Given the description of an element on the screen output the (x, y) to click on. 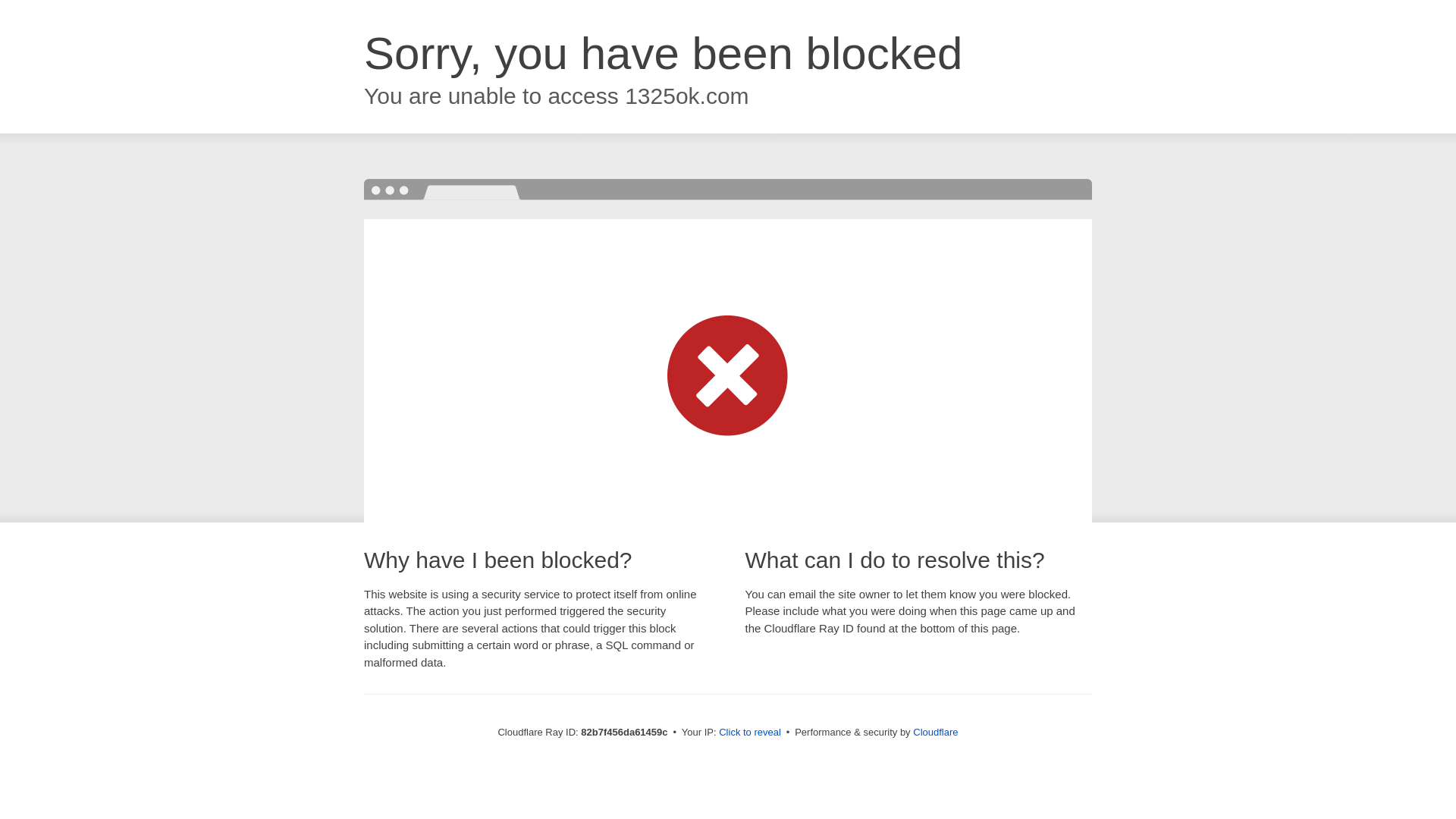
Click to reveal Element type: text (749, 732)
Cloudflare Element type: text (935, 731)
